Given the description of an element on the screen output the (x, y) to click on. 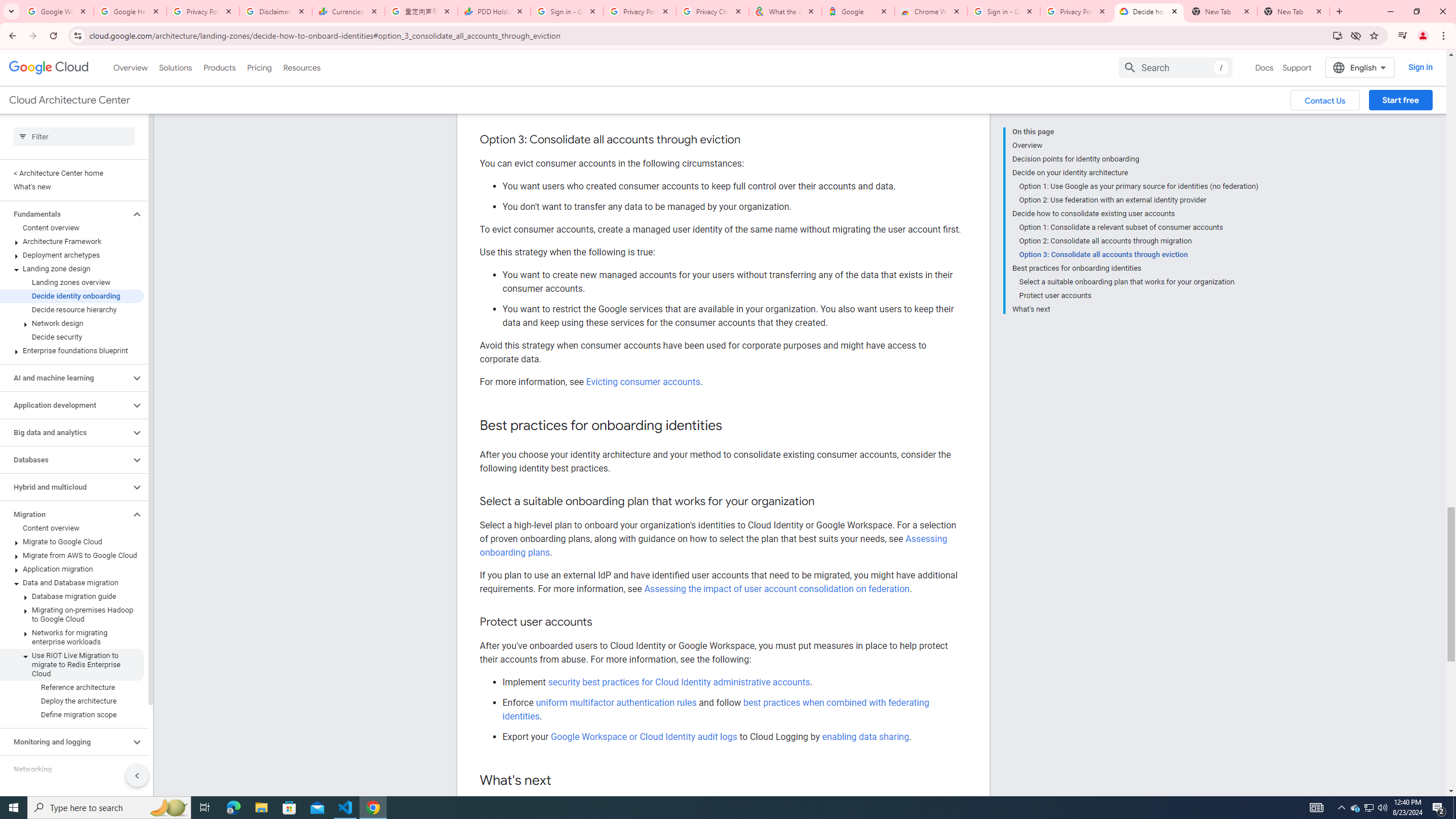
Reference architecture (72, 687)
Option 2: Consolidate all accounts through migration (1138, 241)
Chrome Web Store - Color themes by Chrome (930, 11)
Solutions (175, 67)
